Given the description of an element on the screen output the (x, y) to click on. 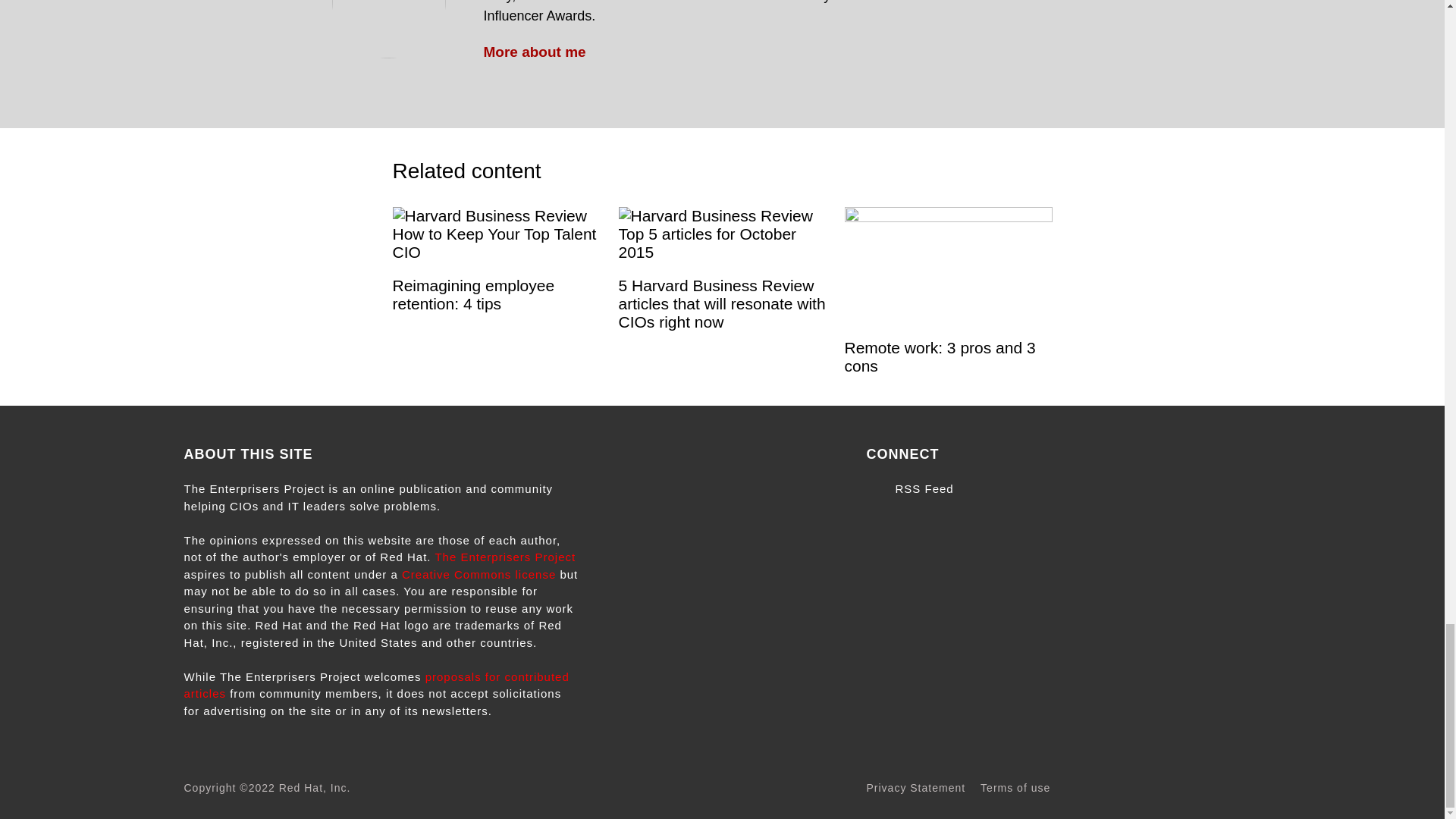
Harvard Business Review How to Keep Your Top Talent CIO (496, 234)
Creative Commons license (478, 574)
Harvard Business Review Top 5 articles for October 2015 (722, 234)
The Enterprisers Project (504, 556)
